Given the description of an element on the screen output the (x, y) to click on. 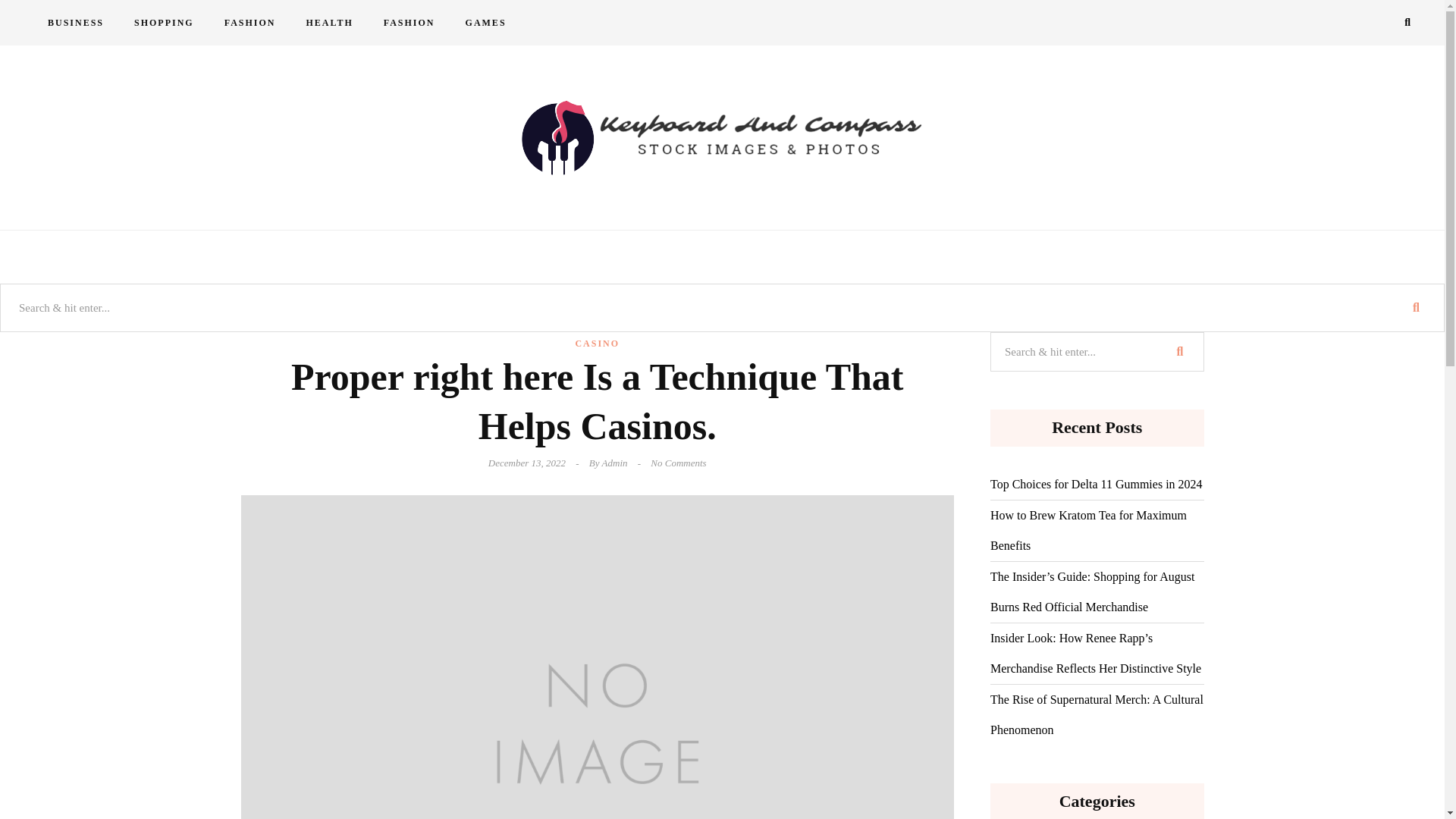
CASINO (597, 343)
FASHION (250, 22)
BUSINESS (75, 22)
GAMES (485, 22)
The Rise of Supernatural Merch: A Cultural Phenomenon (1097, 714)
HEALTH (329, 22)
FASHION (408, 22)
How to Brew Kratom Tea for Maximum Benefits (1097, 530)
SHOPPING (164, 22)
Top Choices for Delta 11 Gummies in 2024 (1096, 484)
